Given the description of an element on the screen output the (x, y) to click on. 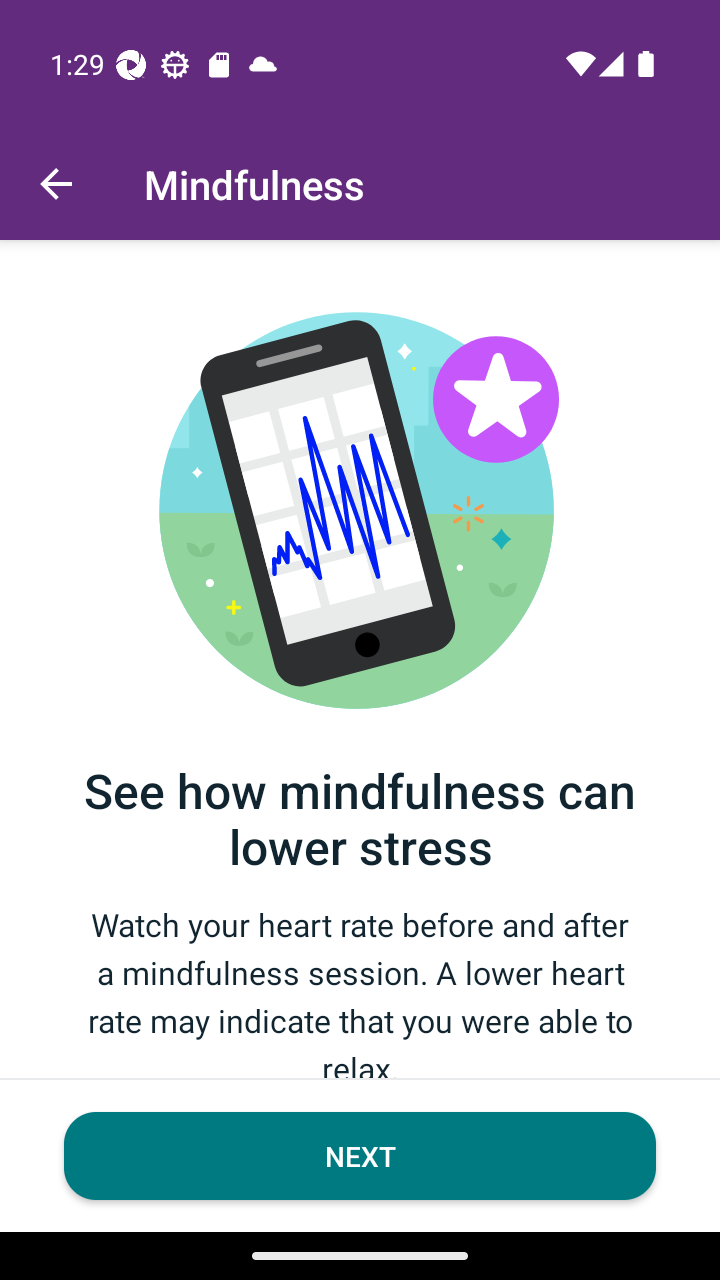
Navigate up (56, 184)
NEXT (359, 1156)
